Given the description of an element on the screen output the (x, y) to click on. 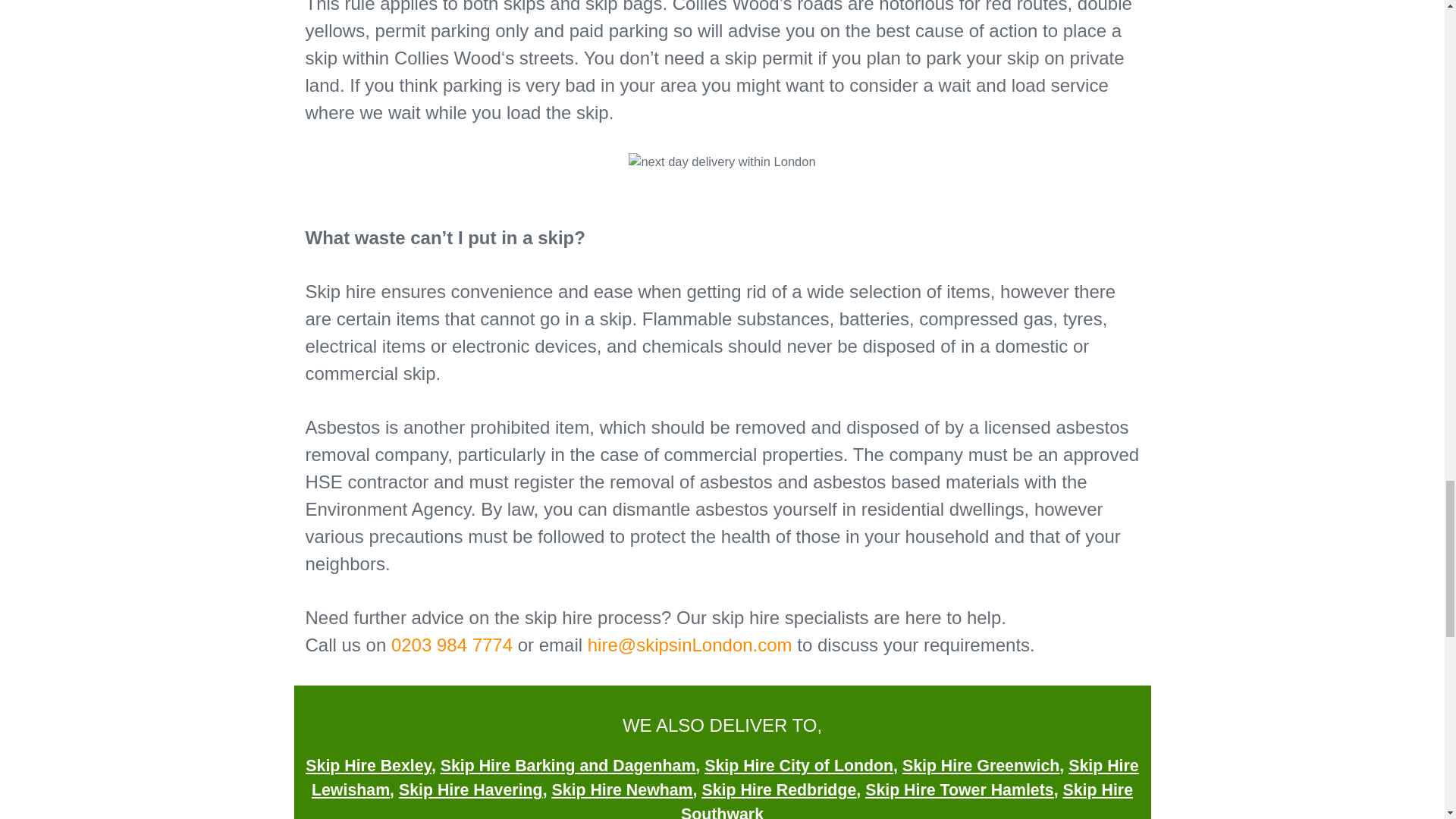
Skip Hire Southwark (906, 800)
Skip Hire Newham (622, 790)
Skip Hire Bexley (367, 765)
Skip Hire Havering (470, 790)
Skip Hire Tower Hamlets (959, 790)
Skip Hire Lewisham (724, 777)
Skip Hire Barking and Dagenham (568, 765)
0203 984 7774 (451, 644)
Skip Hire Redbridge (778, 790)
Skip Hire City of London (798, 765)
Skip Hire Greenwich (980, 765)
